Given the description of an element on the screen output the (x, y) to click on. 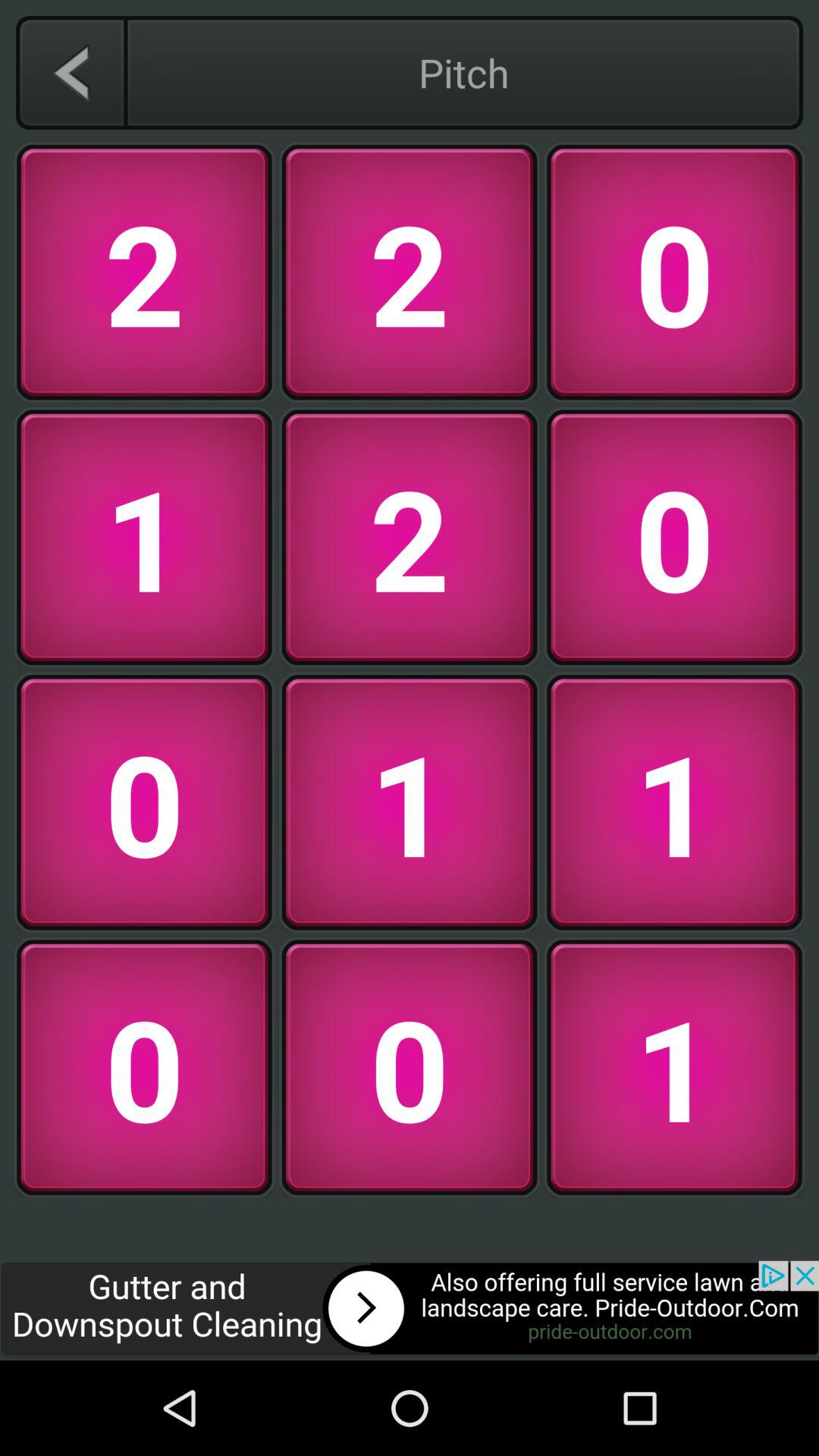
turn on the app to the left of pitch item (70, 72)
